Given the description of an element on the screen output the (x, y) to click on. 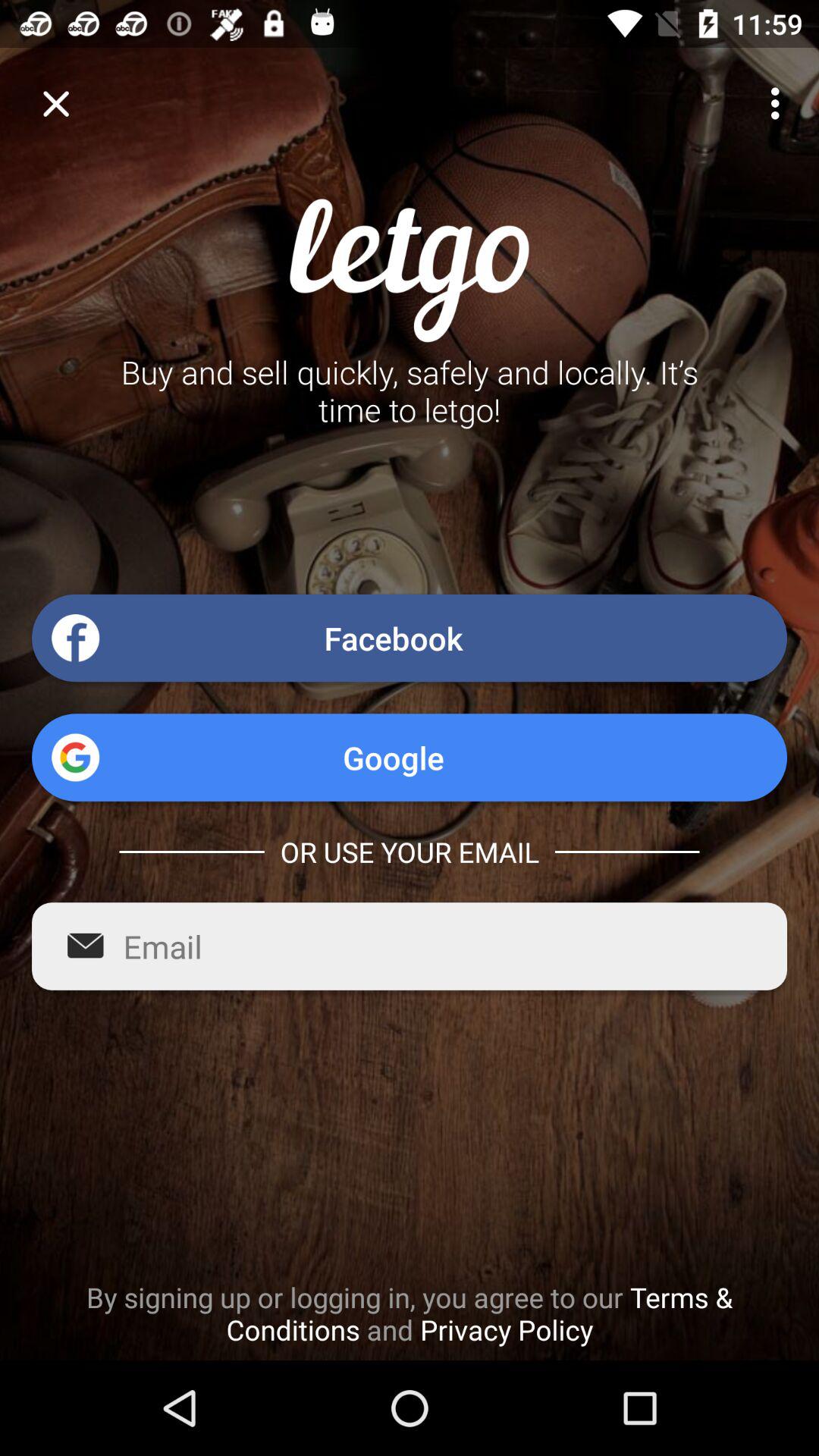
swipe until by signing up icon (409, 1313)
